Given the description of an element on the screen output the (x, y) to click on. 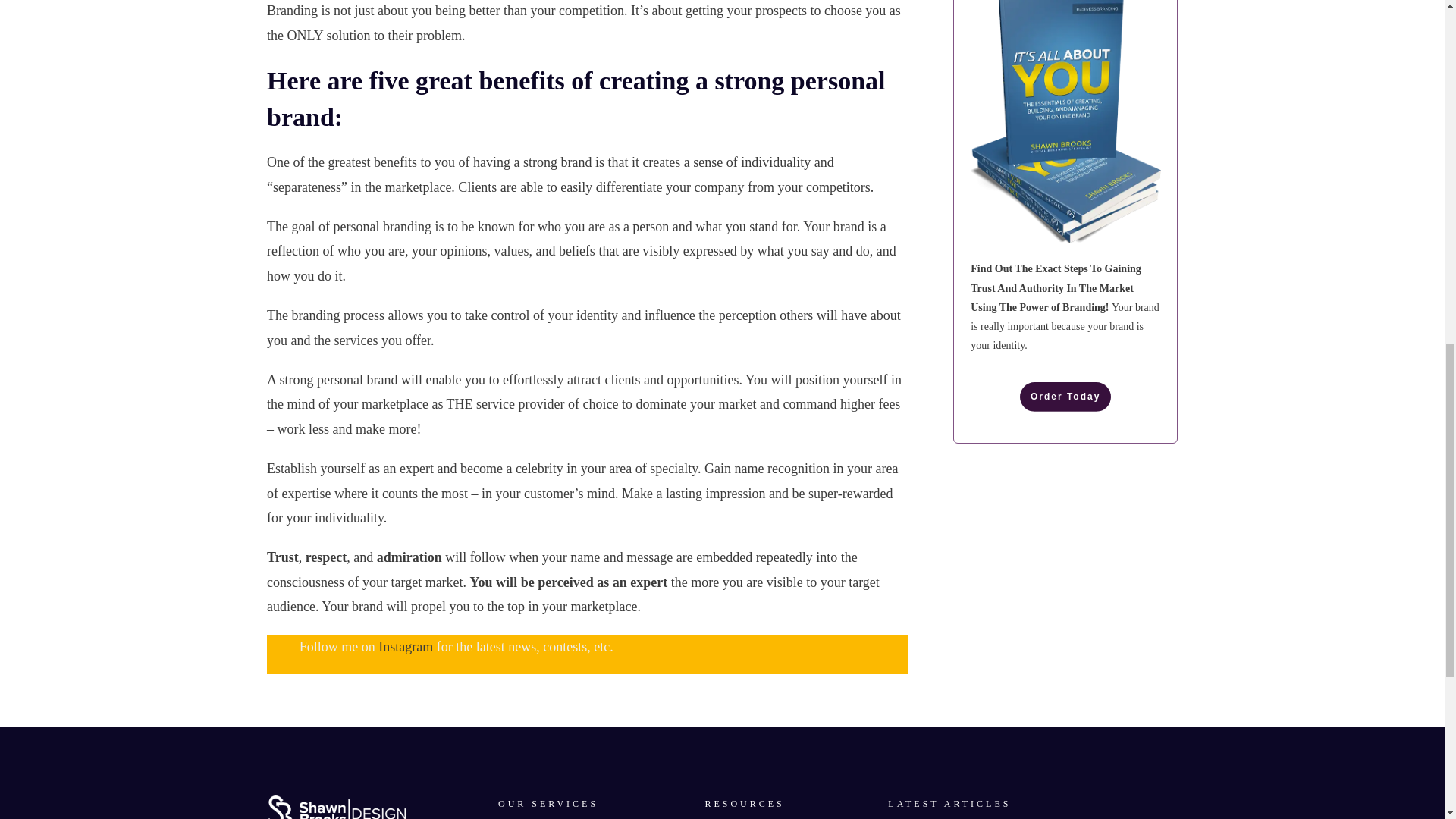
Instagram (405, 646)
Order Today (1065, 396)
personal brand (357, 379)
